Given the description of an element on the screen output the (x, y) to click on. 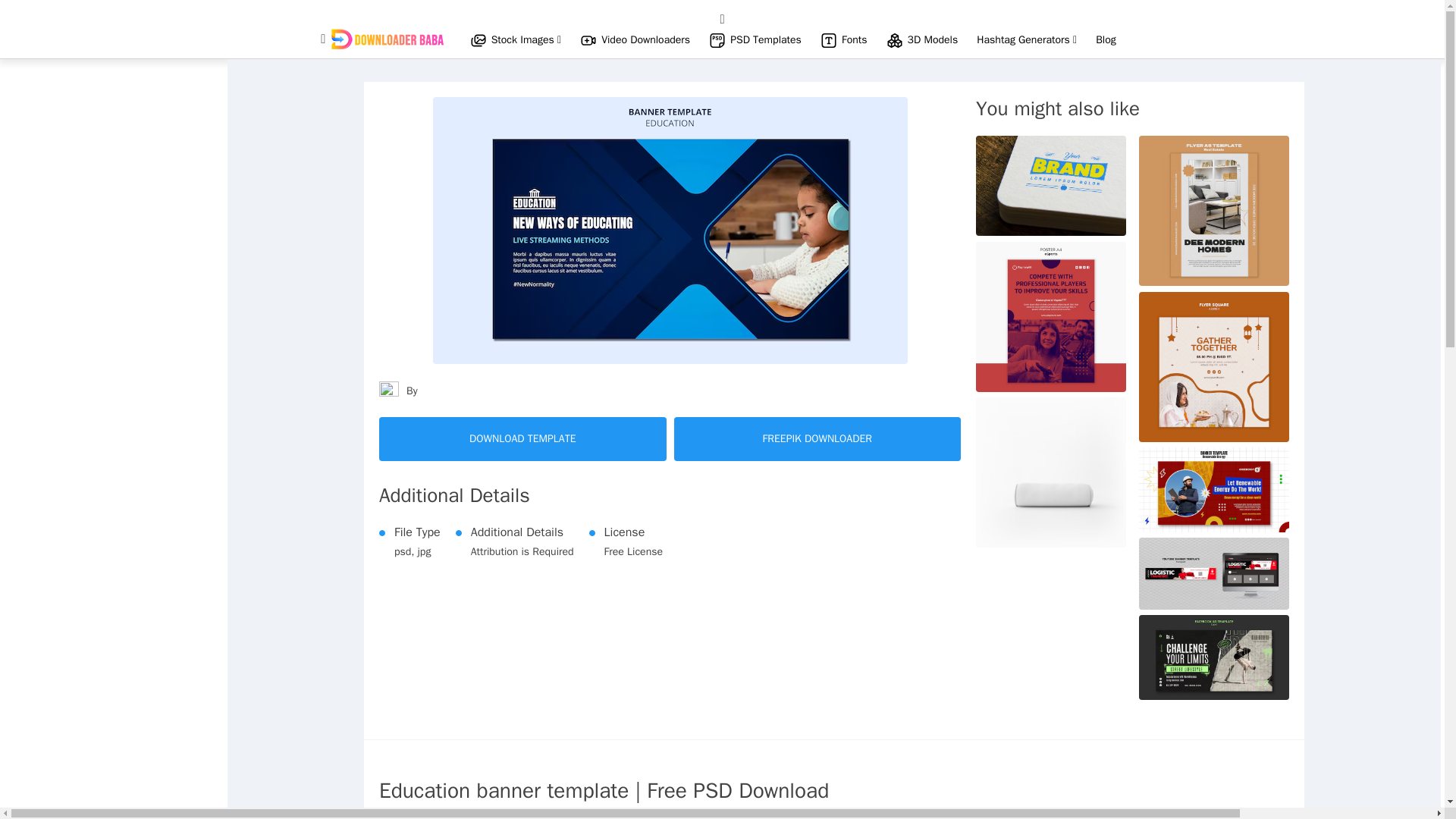
Fonts (854, 39)
3D Models (932, 39)
Hashtag Generators (1026, 39)
Downloader Baba Official Logo (387, 38)
Blog (1105, 39)
DOWNLOAD TEMPLATE (522, 438)
PSD Templates (765, 39)
FREEPIK DOWNLOADER (816, 438)
Video Downloaders (645, 39)
Stock Images (526, 39)
